Given the description of an element on the screen output the (x, y) to click on. 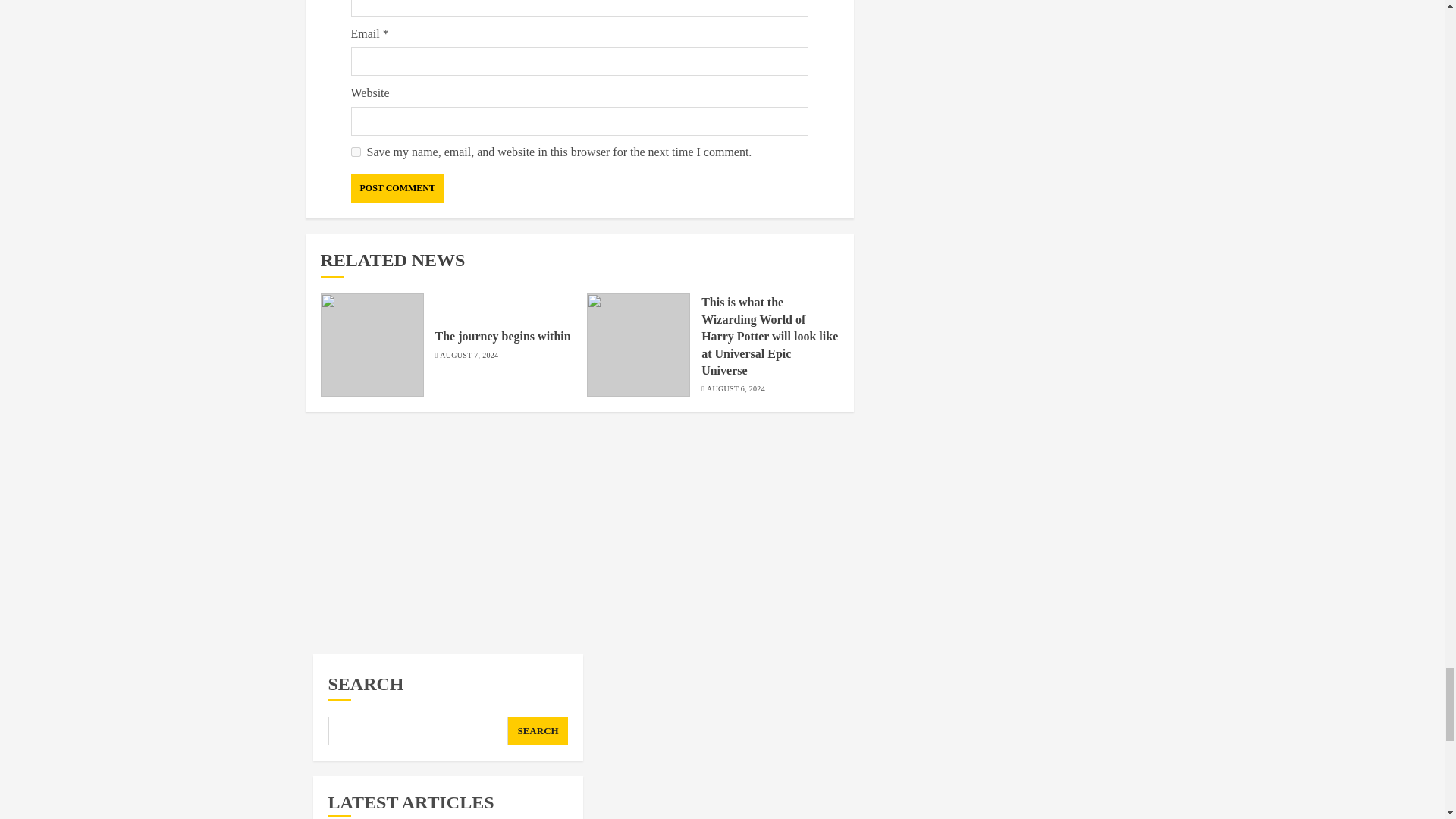
AUGUST 7, 2024 (468, 355)
yes (354, 152)
Post Comment (397, 188)
SEARCH (537, 730)
The journey begins within (502, 336)
AUGUST 6, 2024 (735, 388)
Post Comment (397, 188)
